Given the description of an element on the screen output the (x, y) to click on. 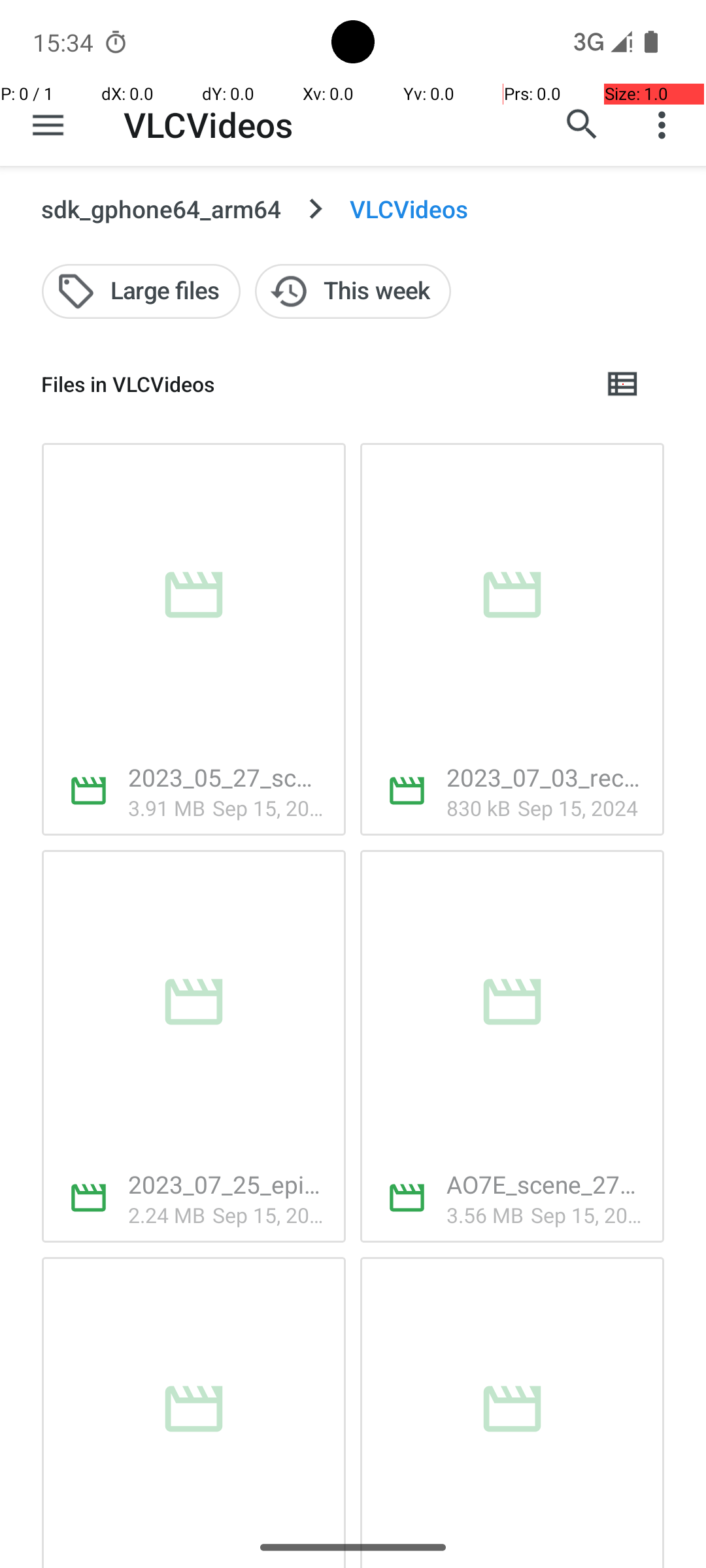
Files in VLCVideos Element type: android.widget.TextView (311, 383)
2023_05_27_scene_9_.mp4 Element type: android.widget.TextView (226, 776)
3.91 MB Element type: android.widget.TextView (166, 807)
Sep 15, 2024 Element type: android.widget.TextView (268, 807)
2023_07_03_recording_27_export.mp4 Element type: android.widget.TextView (544, 776)
830 kB Element type: android.widget.TextView (478, 807)
2023_07_25_episode_85_.mp4 Element type: android.widget.TextView (226, 1183)
2.24 MB Element type: android.widget.TextView (166, 1214)
AO7E_scene_27_.mp4 Element type: android.widget.TextView (544, 1183)
3.56 MB Element type: android.widget.TextView (484, 1214)
